Given the description of an element on the screen output the (x, y) to click on. 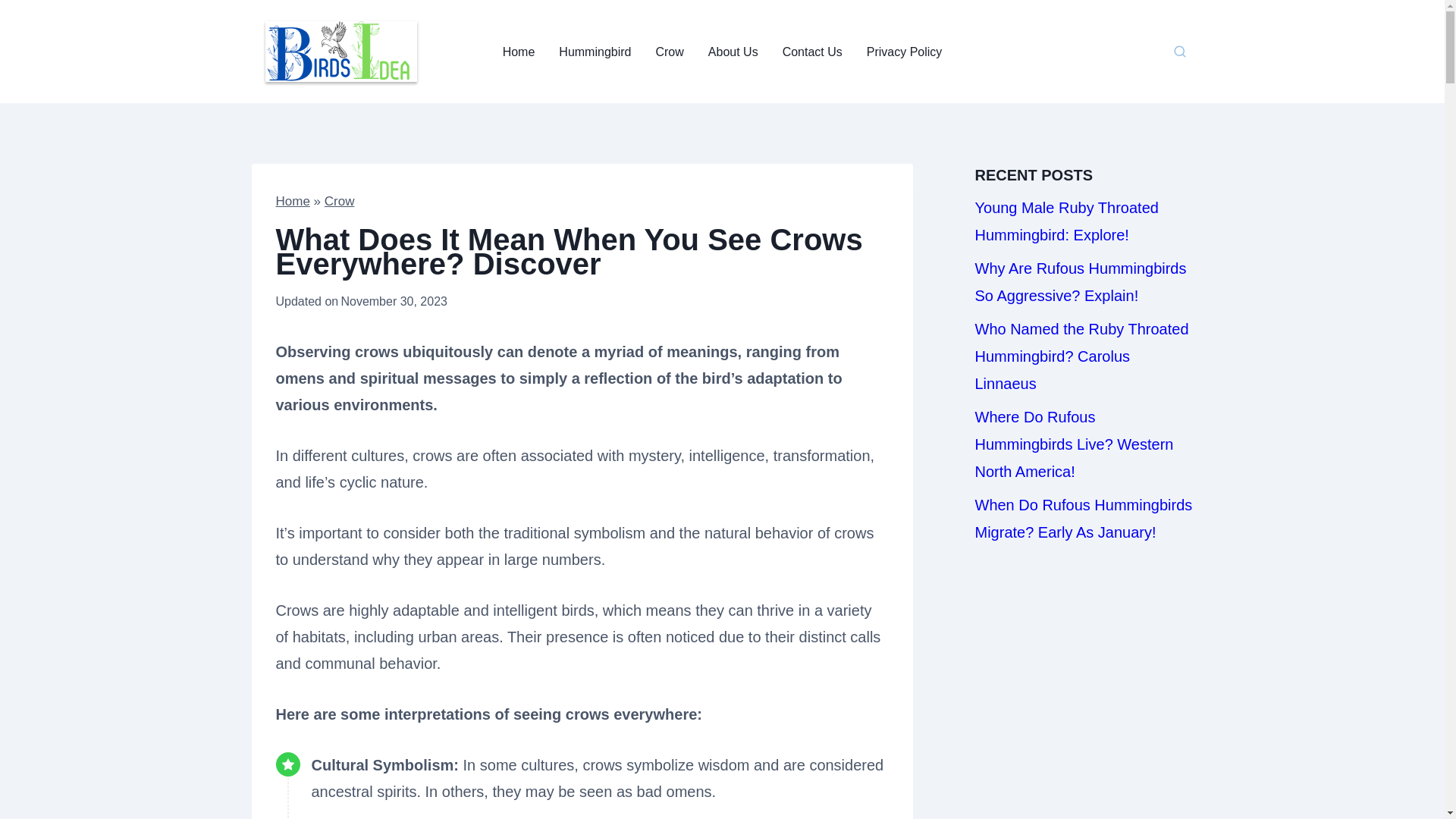
About Us (732, 51)
Hummingbird (595, 51)
Contact Us (812, 51)
Crow (339, 201)
Home (293, 201)
Crow (669, 51)
Privacy Policy (904, 51)
Home (518, 51)
